Given the description of an element on the screen output the (x, y) to click on. 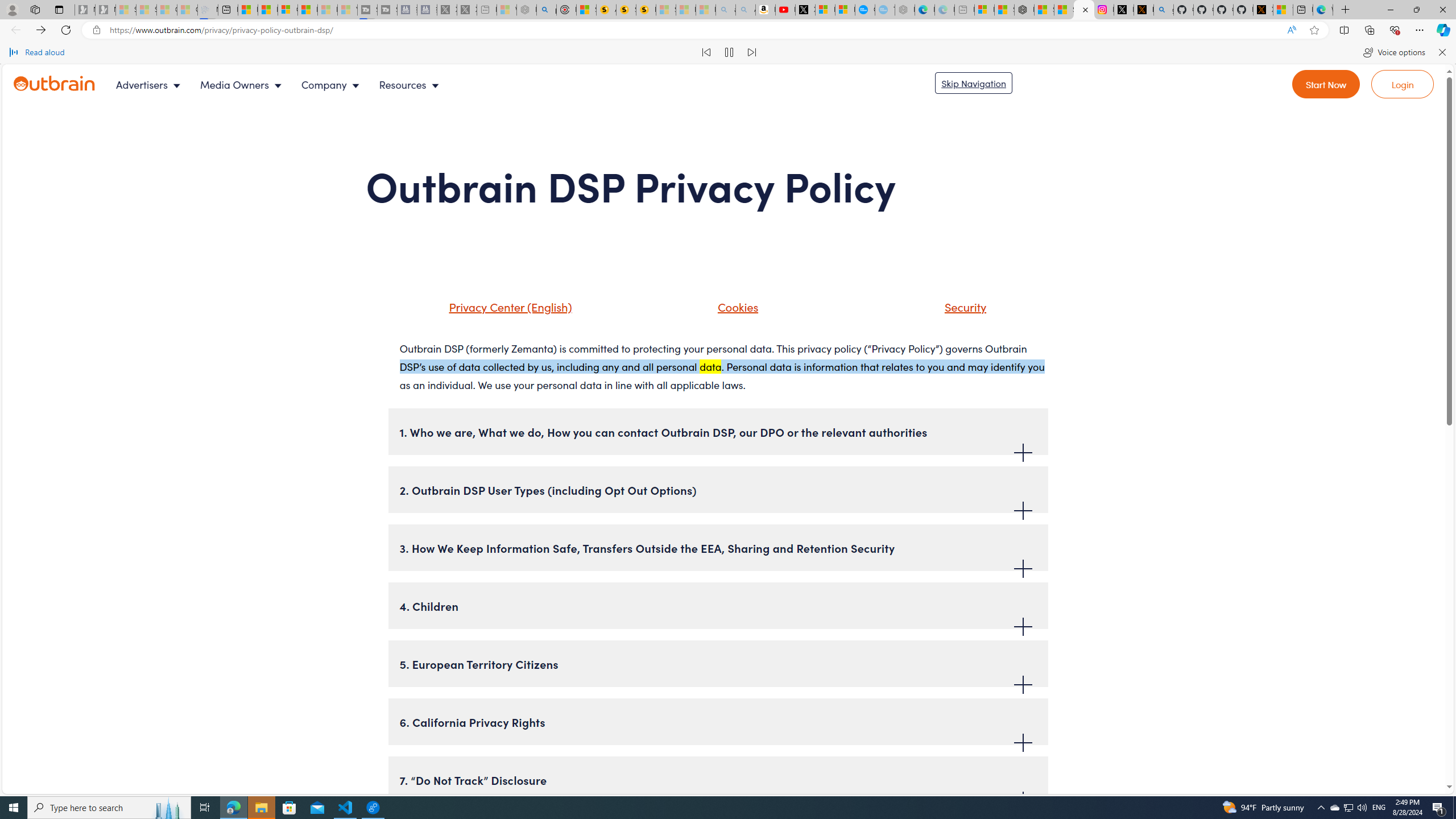
Forward (40, 29)
Privacy Center (English) (507, 305)
Outbrain logo - link to homepage (54, 83)
Outbrain logo - link to homepage (67, 84)
Security (963, 305)
